Given the description of an element on the screen output the (x, y) to click on. 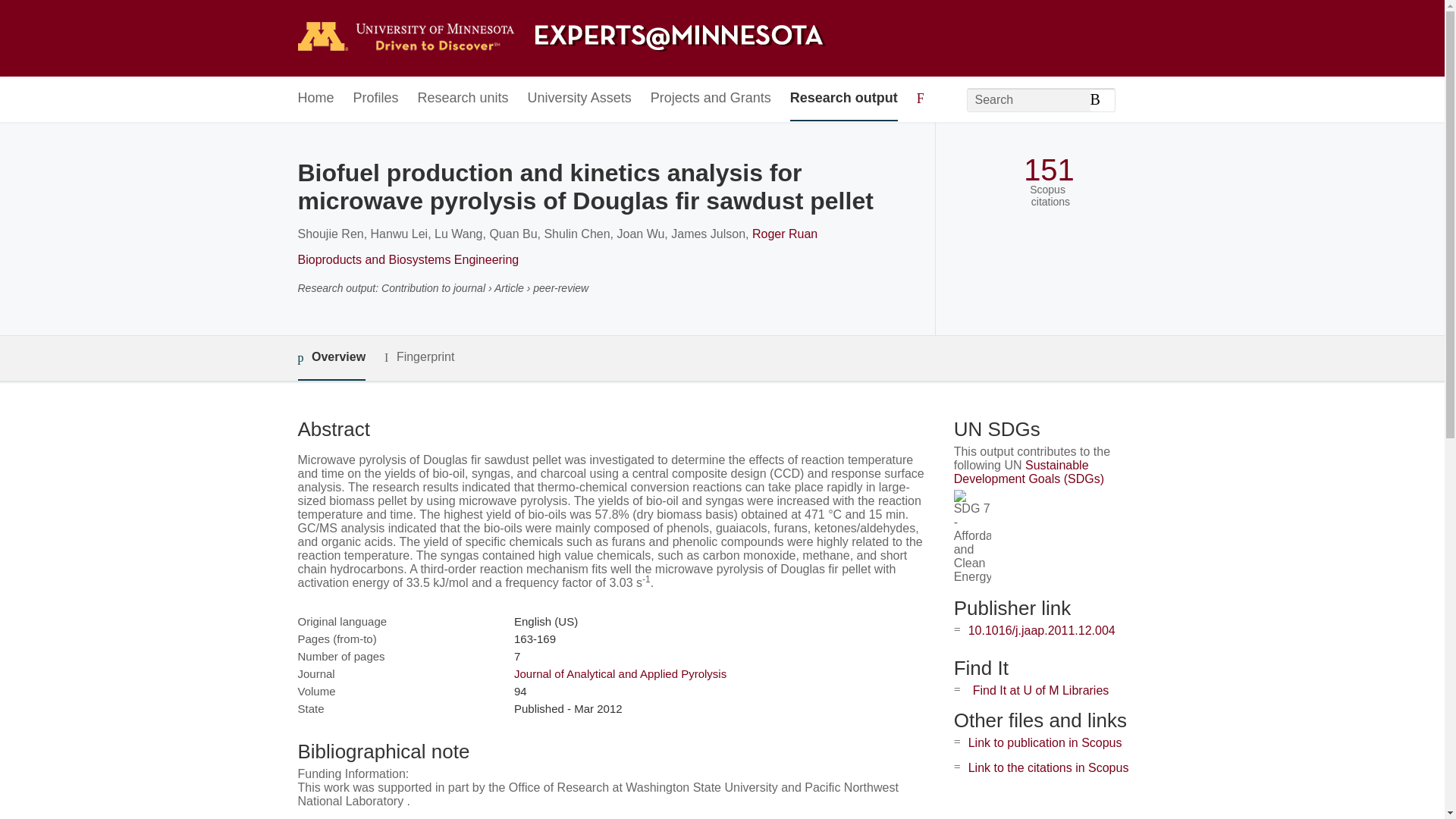
Bioproducts and Biosystems Engineering (407, 259)
Find It at U of M Libraries (1040, 689)
Link to publication in Scopus (1045, 742)
Roger Ruan (784, 233)
Projects and Grants (710, 98)
Research output (844, 98)
Fingerprint (419, 357)
Journal of Analytical and Applied Pyrolysis (619, 673)
Overview (331, 357)
Link to the citations in Scopus (1048, 767)
